Given the description of an element on the screen output the (x, y) to click on. 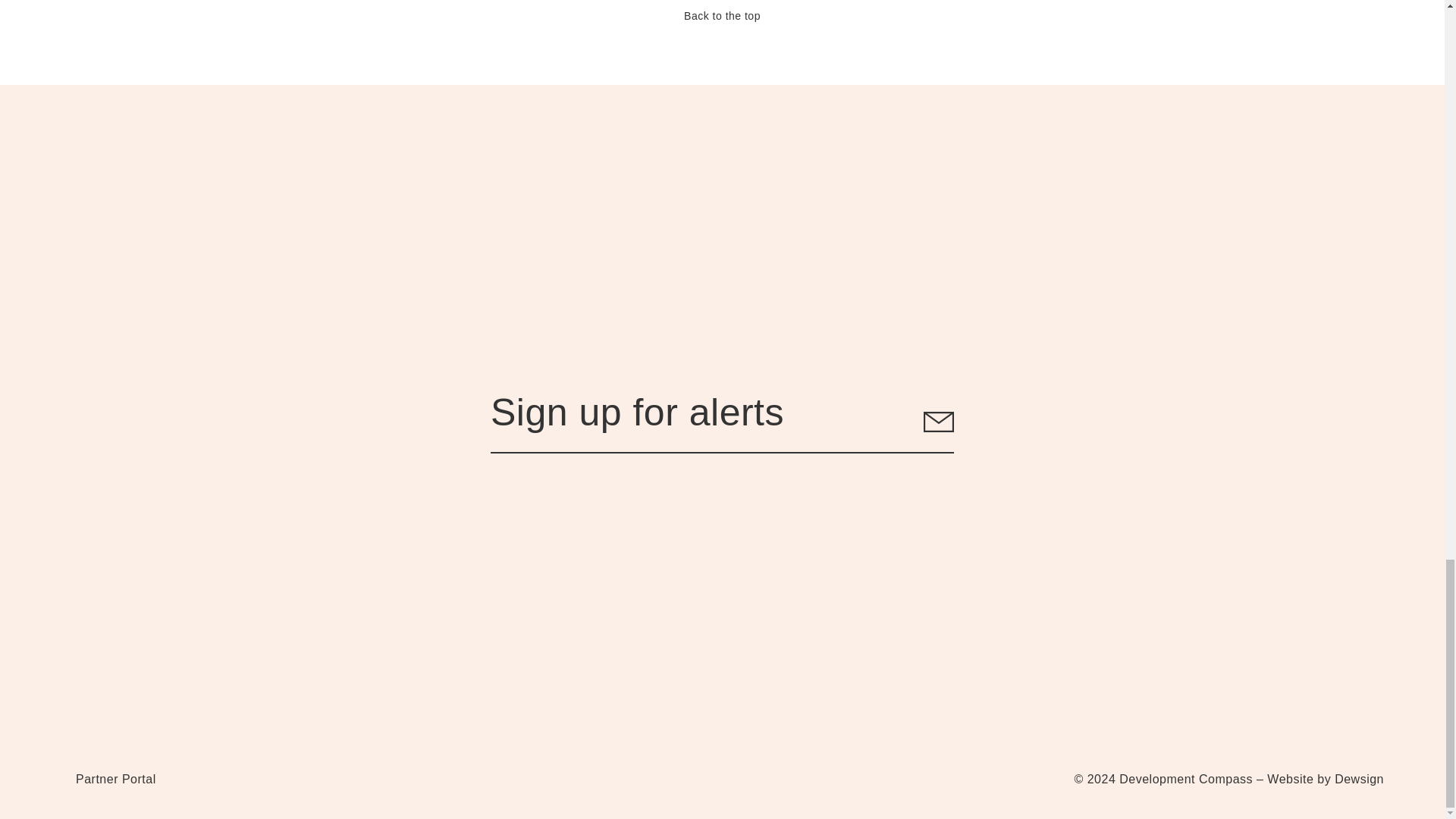
Partner Portal (115, 785)
Dewsign (1359, 779)
Sign up for alerts (721, 422)
